Given the description of an element on the screen output the (x, y) to click on. 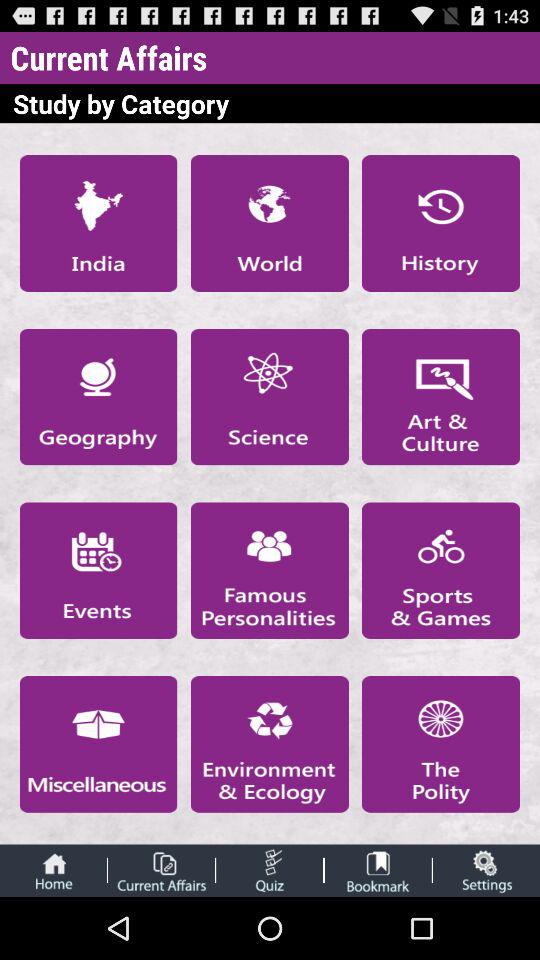
open history page (441, 223)
